Given the description of an element on the screen output the (x, y) to click on. 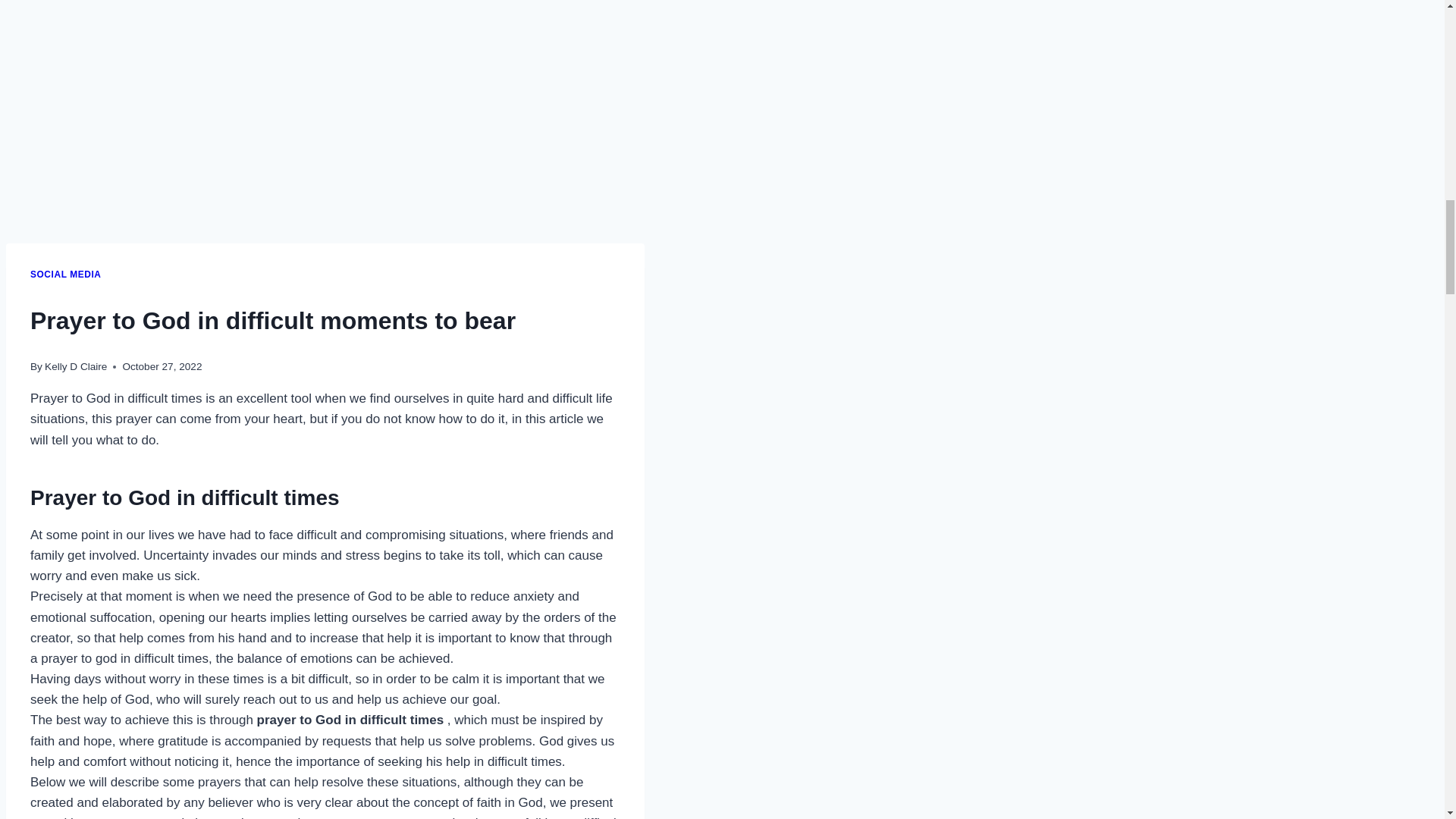
Kelly D Claire (75, 366)
SOCIAL MEDIA (65, 274)
